Given the description of an element on the screen output the (x, y) to click on. 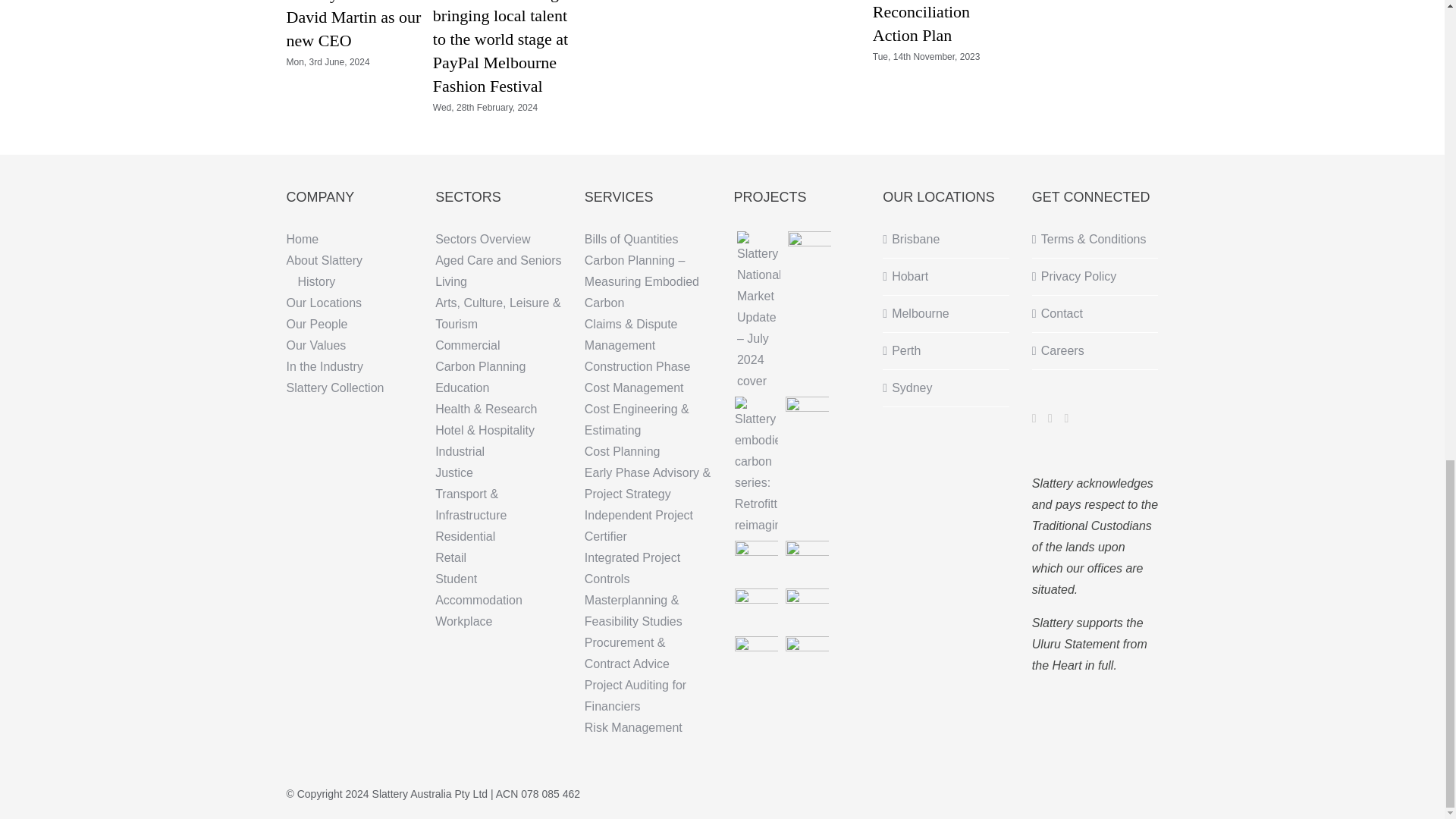
Slattery welcomes David Martin as our new CEO (354, 24)
